Given the description of an element on the screen output the (x, y) to click on. 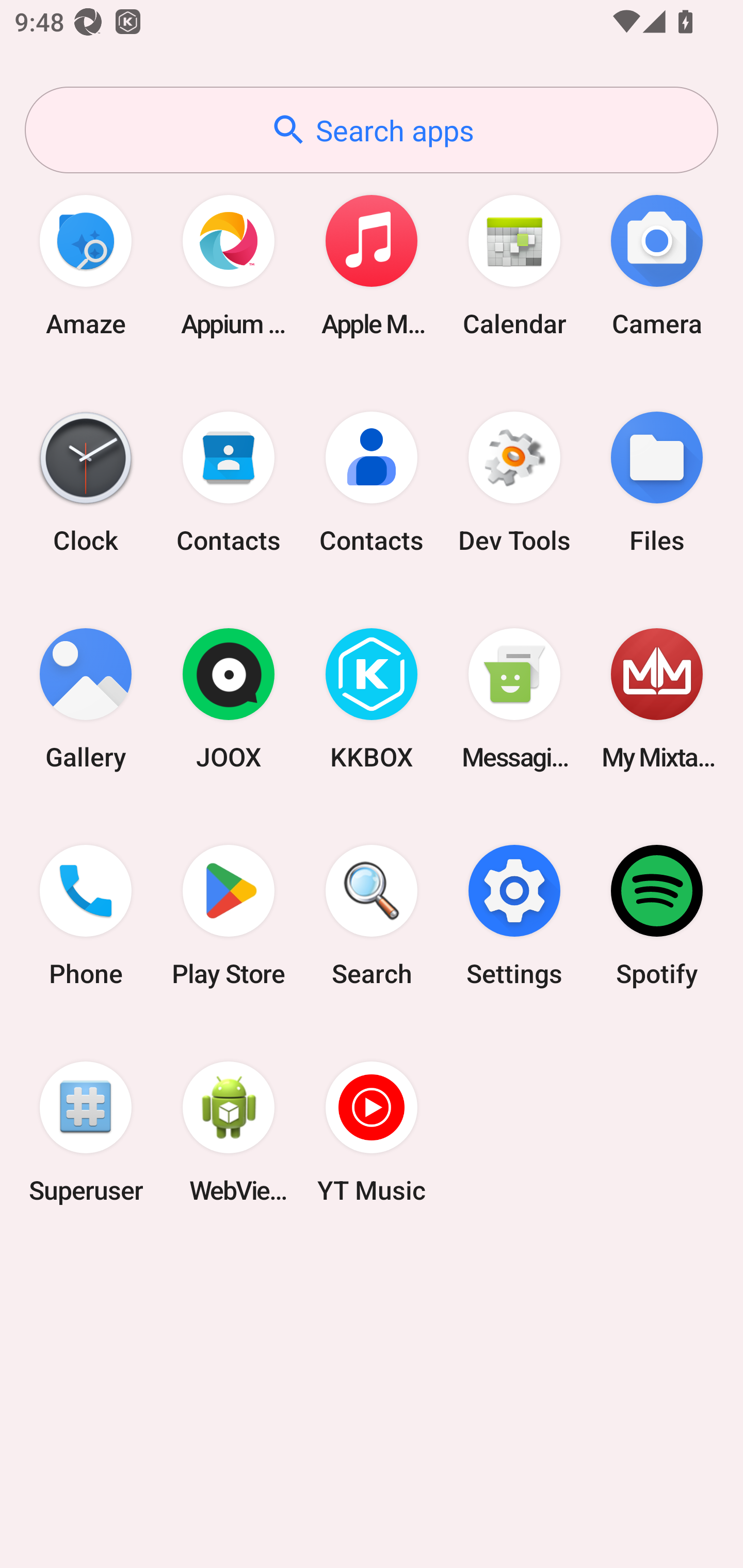
  Search apps (371, 130)
Amaze (85, 264)
Appium Settings (228, 264)
Apple Music (371, 264)
Calendar (514, 264)
Camera (656, 264)
Clock (85, 482)
Contacts (228, 482)
Contacts (371, 482)
Dev Tools (514, 482)
Files (656, 482)
Gallery (85, 699)
JOOX (228, 699)
KKBOX (371, 699)
Messaging (514, 699)
My Mixtapez (656, 699)
Phone (85, 915)
Play Store (228, 915)
Search (371, 915)
Settings (514, 915)
Spotify (656, 915)
Superuser (85, 1131)
WebView Browser Tester (228, 1131)
YT Music (371, 1131)
